Given the description of an element on the screen output the (x, y) to click on. 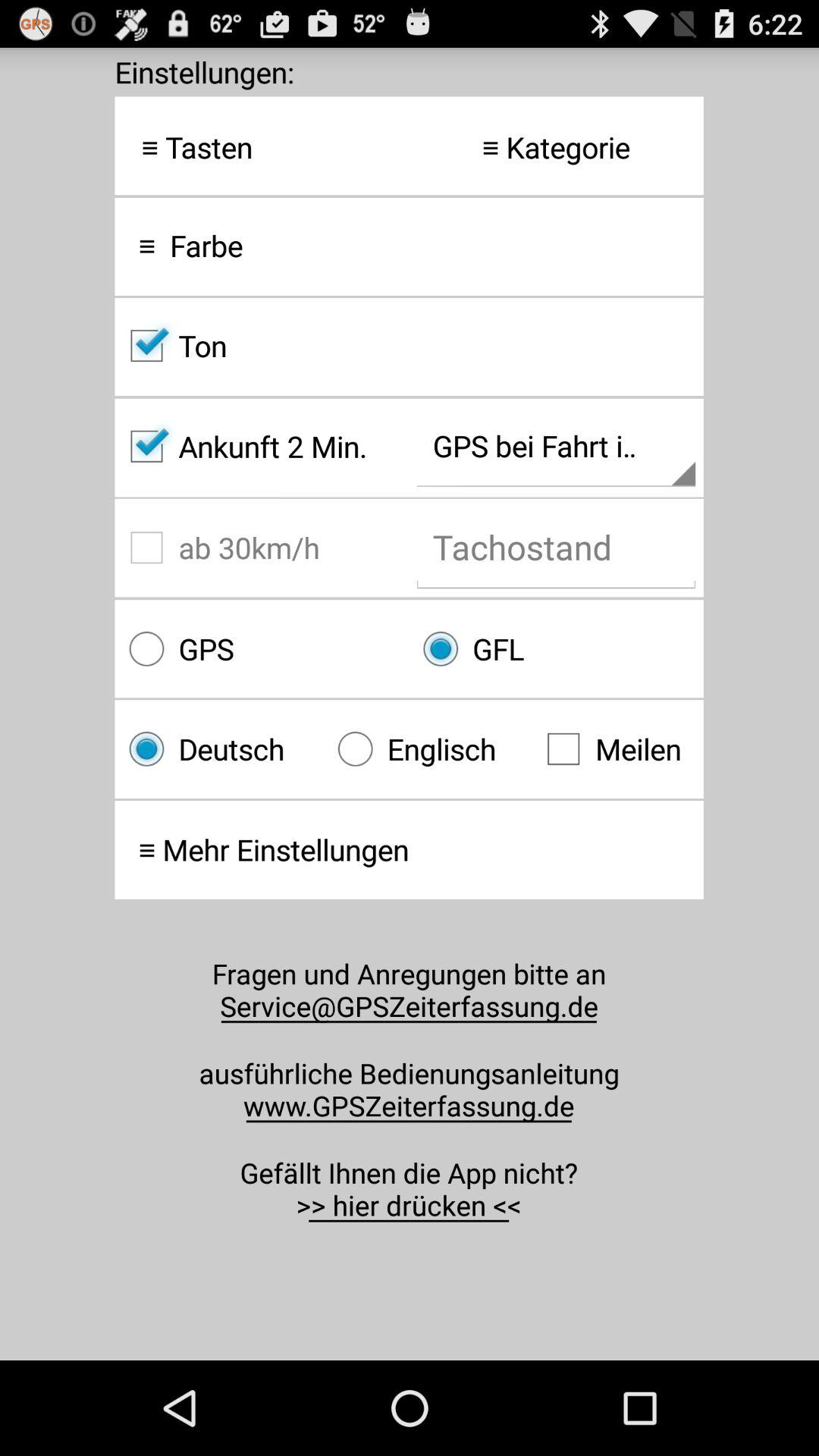
turn on checkbox to the right of ab 30km/h (555, 648)
